Given the description of an element on the screen output the (x, y) to click on. 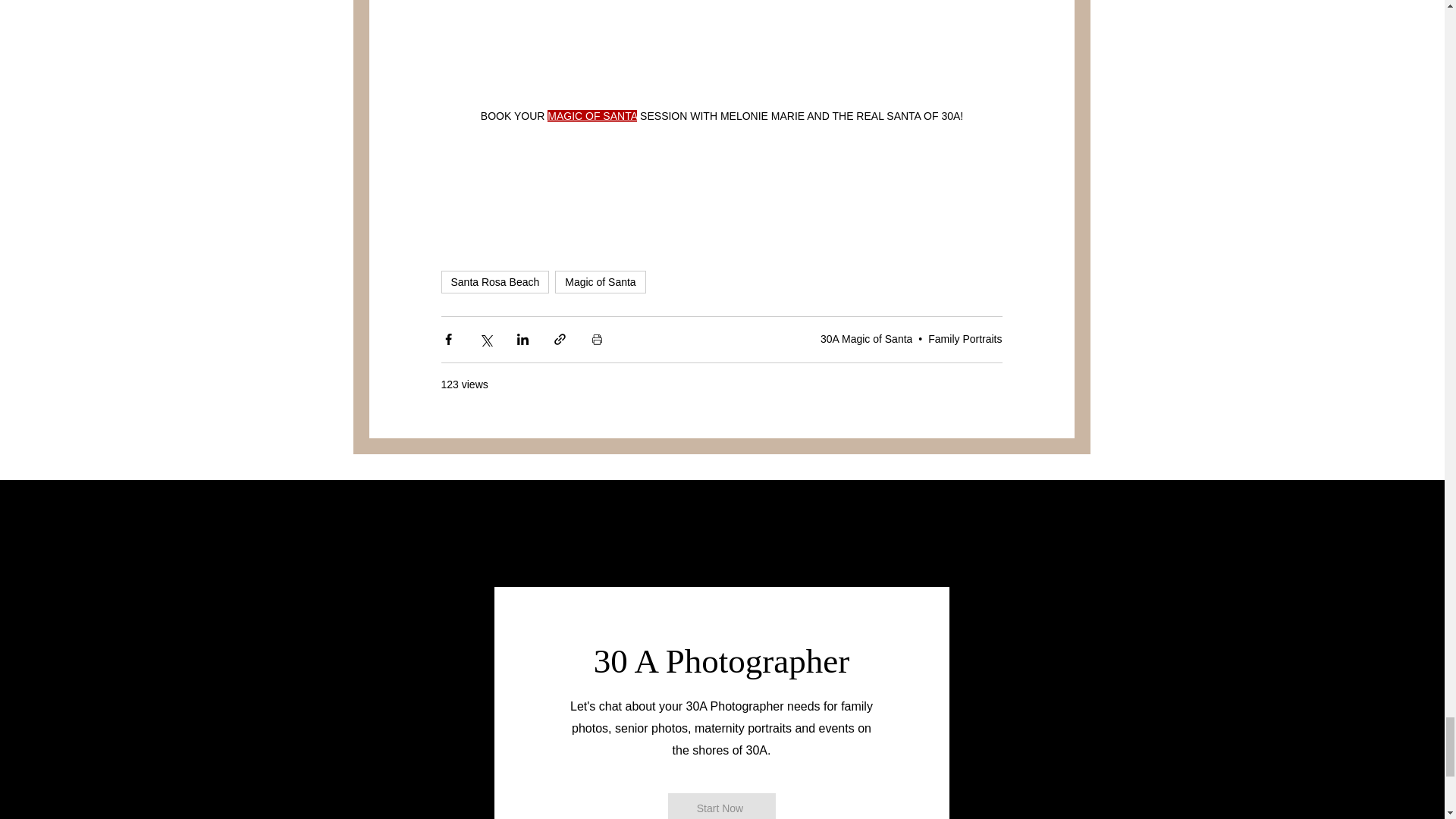
30A Magic of Santa (866, 338)
MAGIC OF SANTA (592, 115)
Start Now (720, 806)
Santa Rosa Beach (495, 282)
Magic of Santa (599, 282)
Family Portraits (964, 338)
